Given the description of an element on the screen output the (x, y) to click on. 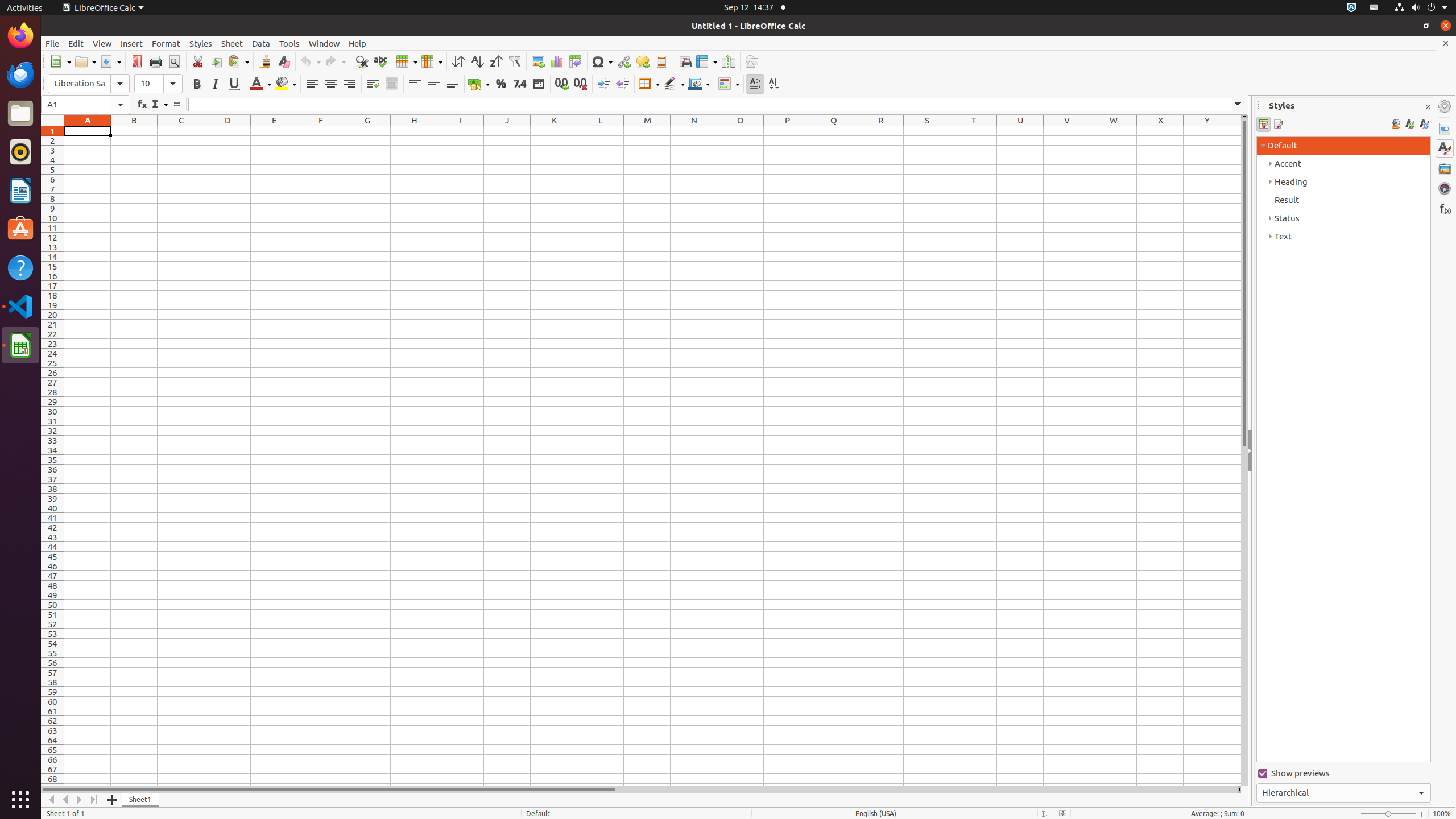
New Element type: push-button (59, 61)
Background Color Element type: push-button (285, 83)
W1 Element type: table-cell (1113, 130)
Edit Element type: menu (75, 43)
Image Element type: push-button (537, 61)
